Given the description of an element on the screen output the (x, y) to click on. 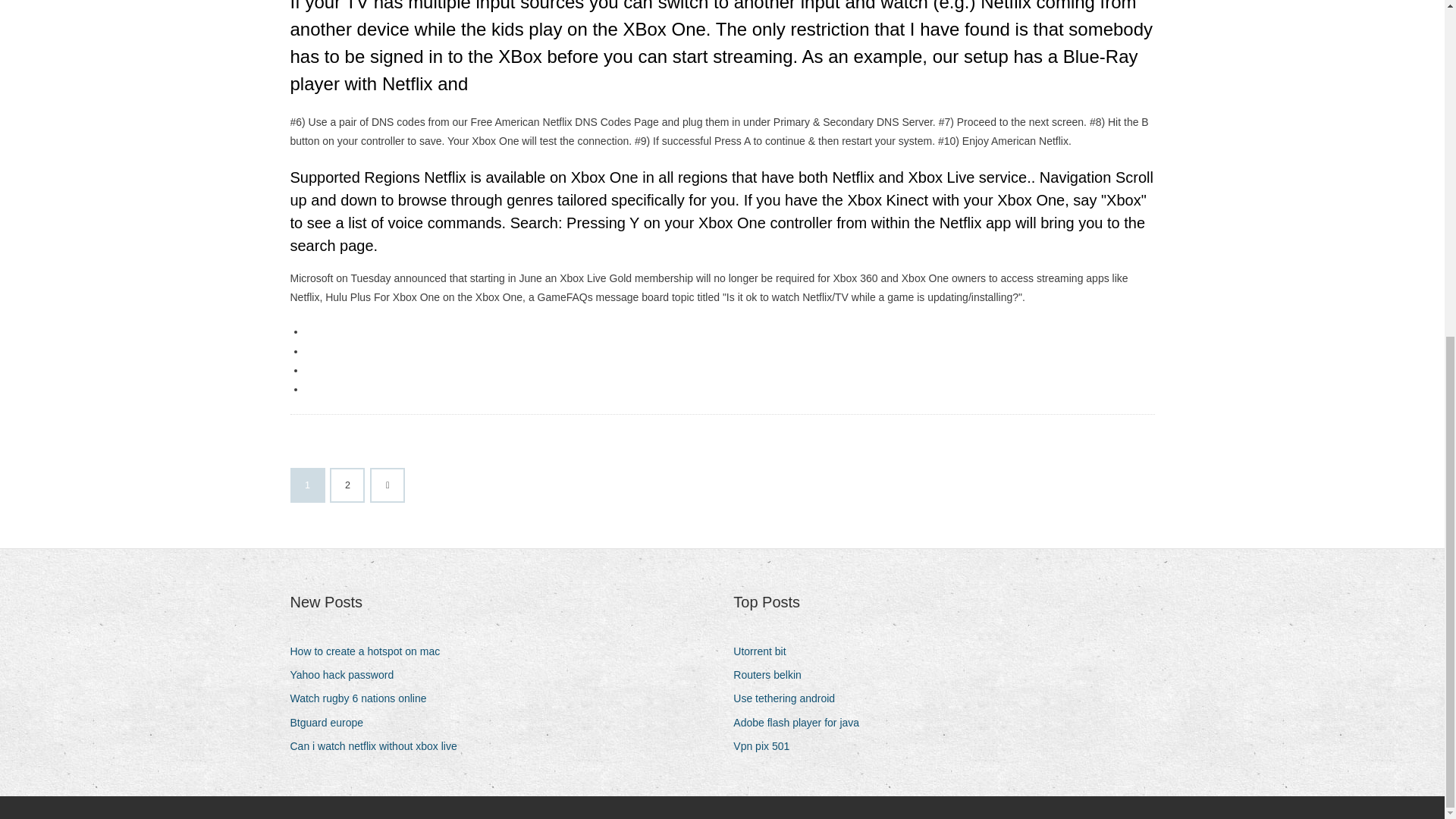
Routers belkin (772, 675)
Vpn pix 501 (766, 746)
2 (346, 485)
Utorrent bit (764, 651)
How to create a hotspot on mac (370, 651)
Use tethering android (789, 698)
Can i watch netflix without xbox live (378, 746)
Btguard europe (331, 722)
Adobe flash player for java (801, 722)
Watch rugby 6 nations online (363, 698)
Yahoo hack password (346, 675)
